Given the description of an element on the screen output the (x, y) to click on. 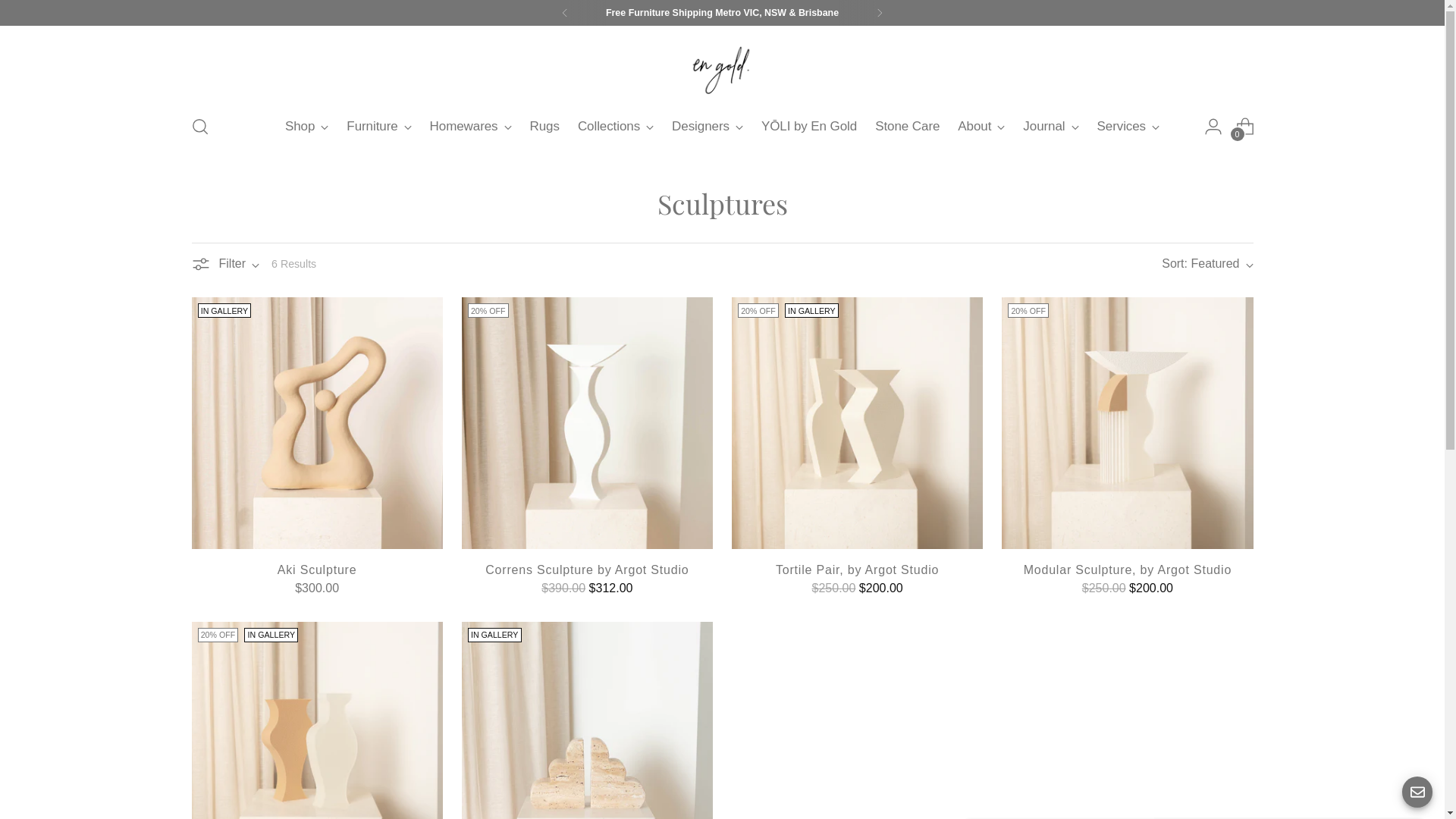
Previous Element type: hover (564, 12)
Collections Element type: text (615, 126)
Designers Element type: text (707, 126)
Services Element type: text (1128, 126)
Modular Sculpture, by Argot Studio Element type: text (1127, 569)
0 Element type: text (1245, 126)
Filter Element type: text (225, 263)
Tortile Pair, by Argot Studio Element type: text (856, 569)
Next Element type: hover (879, 12)
Shop Element type: text (306, 126)
Free Furniture Shipping Metro VIC, NSW & Brisbane Element type: text (721, 13)
Rugs Element type: text (544, 126)
Sort: Featured Element type: text (1206, 263)
Journal Element type: text (1050, 126)
Correns Sculpture by Argot Studio Element type: text (586, 569)
Stone Care Element type: text (907, 126)
Aki Sculpture Element type: text (317, 569)
Homewares Element type: text (470, 126)
About Element type: text (980, 126)
Furniture Element type: text (378, 126)
